Given the description of an element on the screen output the (x, y) to click on. 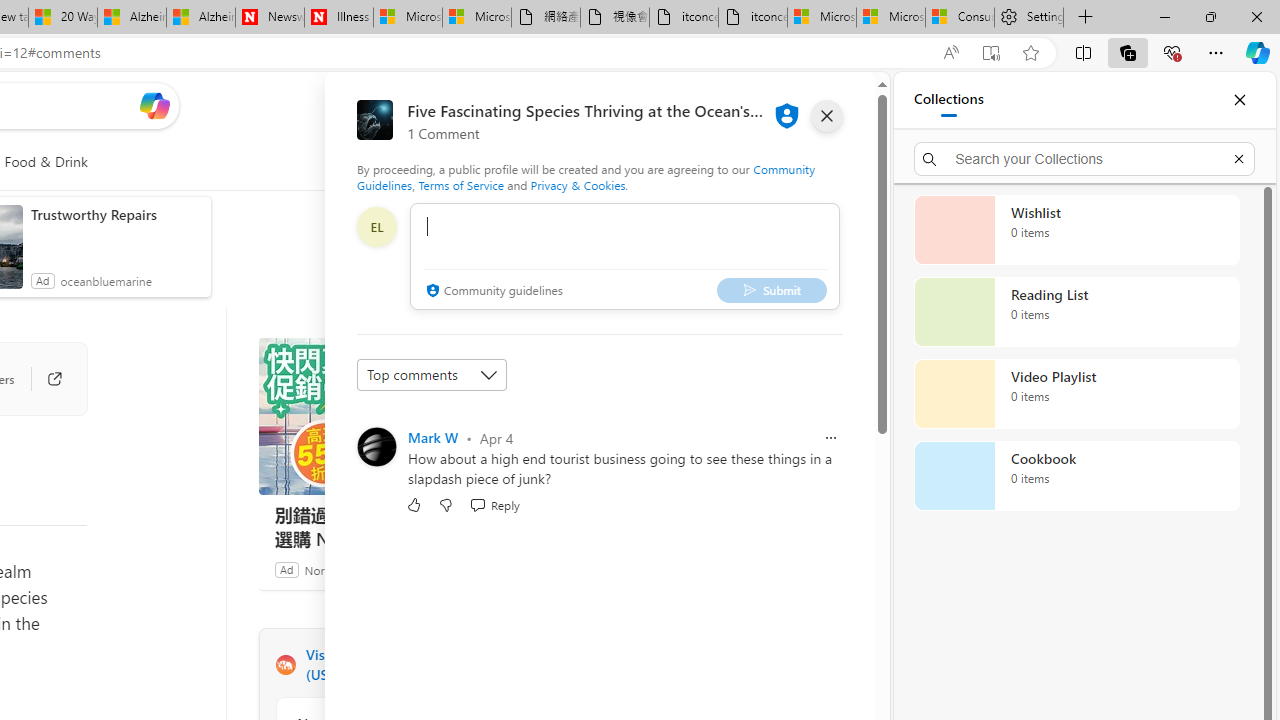
Like (414, 504)
Illness news & latest pictures from Newsweek.com (338, 17)
